Given the description of an element on the screen output the (x, y) to click on. 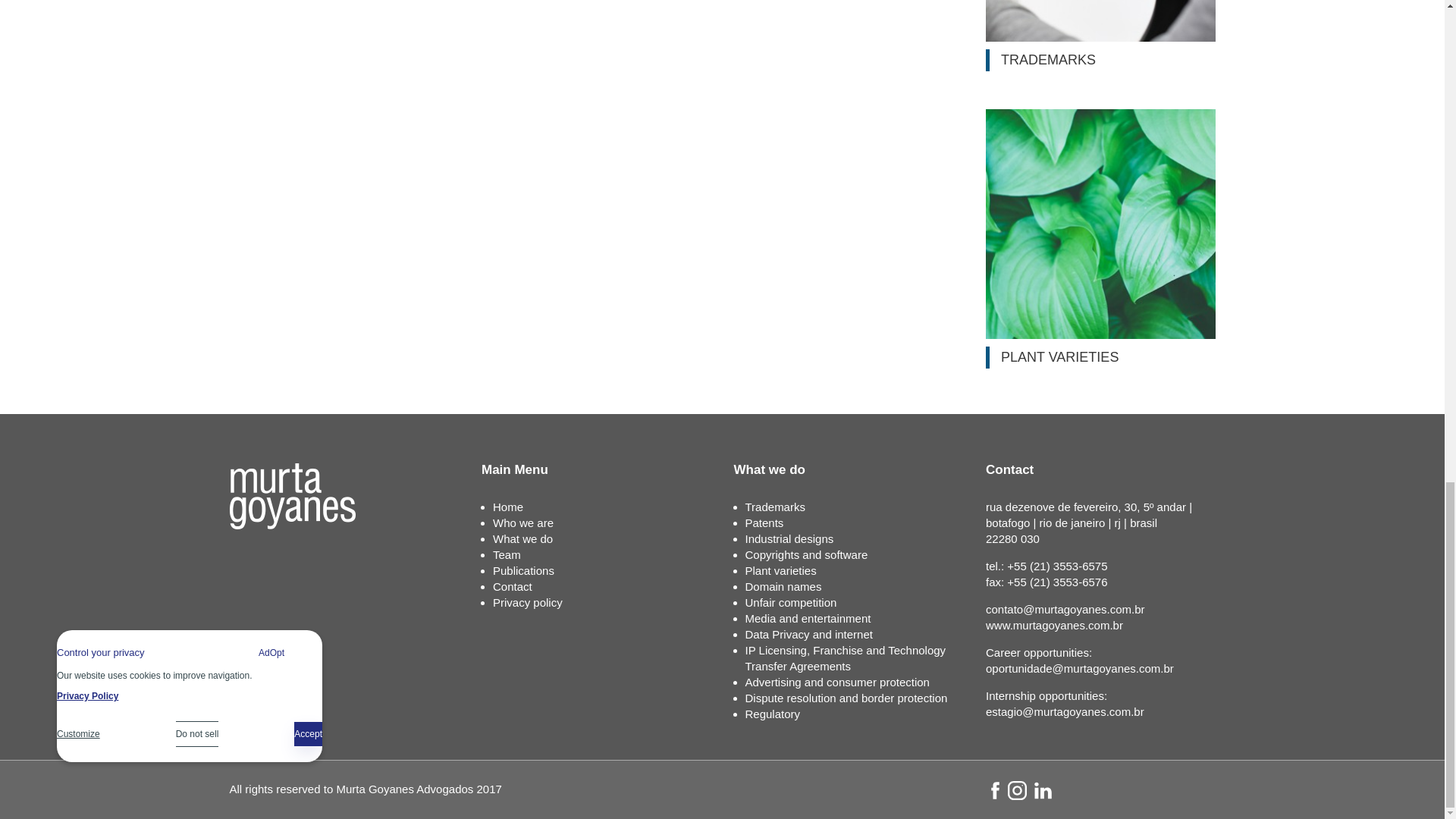
Plant varieties (779, 570)
Patents (763, 522)
Home (507, 506)
Privacy policy (527, 602)
Contact (512, 585)
Who we are (523, 522)
What we do (523, 538)
Copyrights and software (805, 554)
TRADEMARKS (1100, 35)
Publications (523, 570)
Industrial designs (788, 538)
Trademarks (774, 506)
Team (507, 554)
